Given the description of an element on the screen output the (x, y) to click on. 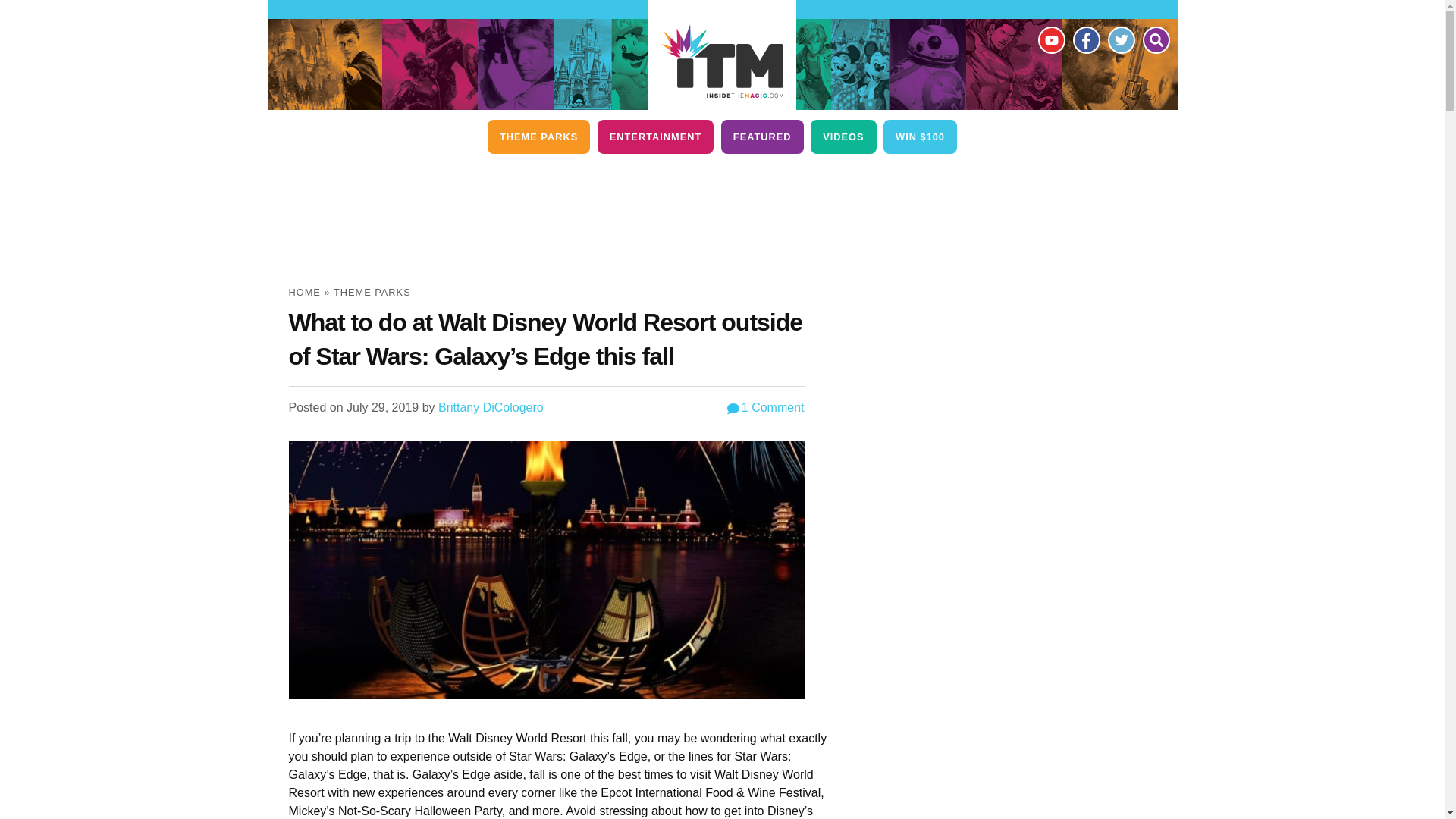
Twitter (1120, 40)
THEME PARKS (538, 136)
Search (1155, 40)
YouTube (1050, 40)
ENTERTAINMENT (655, 136)
FEATURED (761, 136)
Facebook (1085, 40)
